Given the description of an element on the screen output the (x, y) to click on. 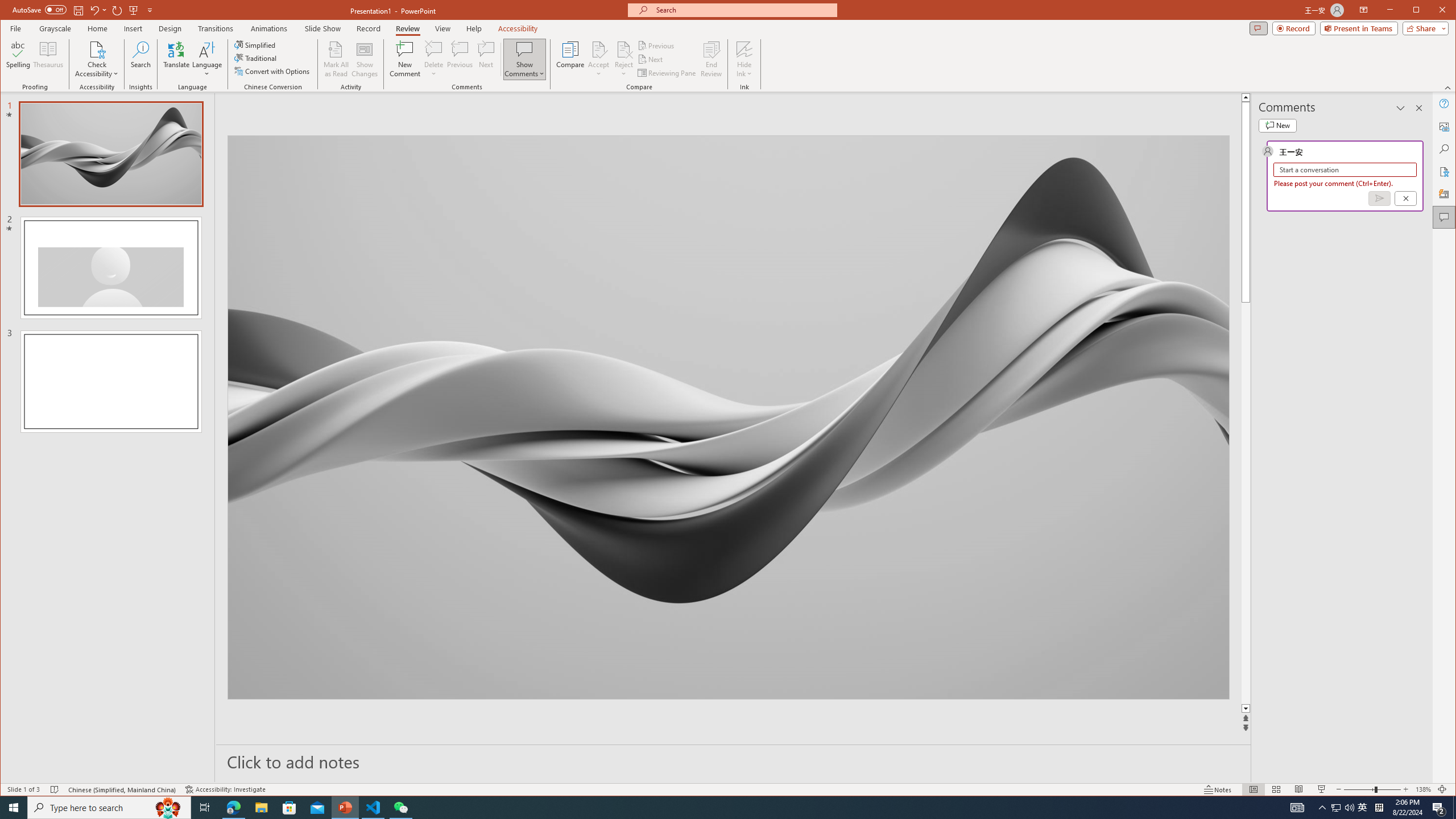
Traditional (256, 57)
Post comment (Ctrl + Enter) (1379, 197)
Thesaurus... (48, 59)
Show Changes (365, 59)
New comment (1277, 125)
